Given the description of an element on the screen output the (x, y) to click on. 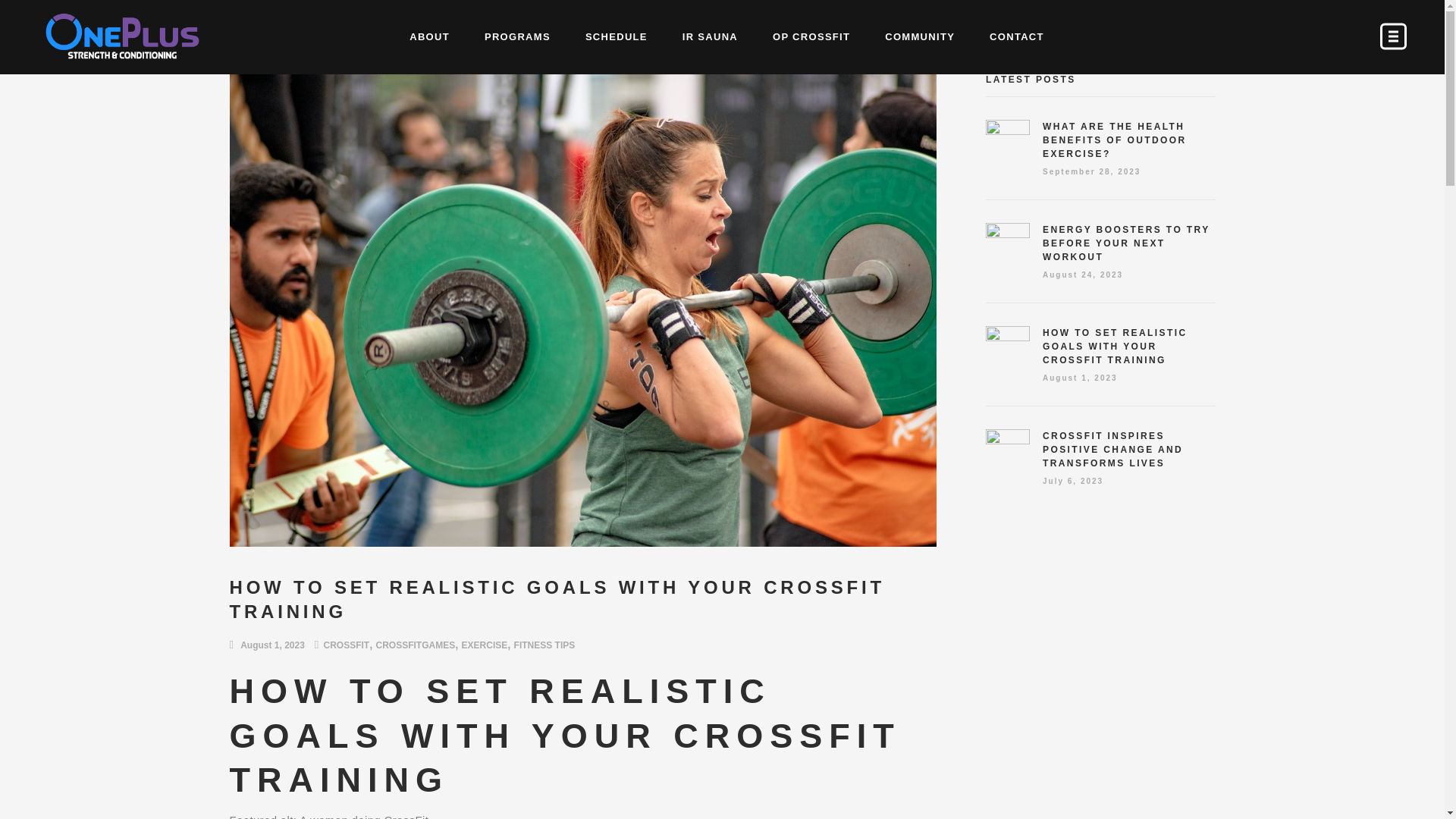
PROGRAMS (517, 37)
OP CROSSFIT (811, 37)
SCHEDULE (616, 37)
OP CrossFit (811, 37)
OnePlus CrossFit Community (919, 37)
CONTACT (1016, 37)
IR SAUNA (710, 37)
COMMUNITY (919, 37)
ABOUT (429, 37)
